Given the description of an element on the screen output the (x, y) to click on. 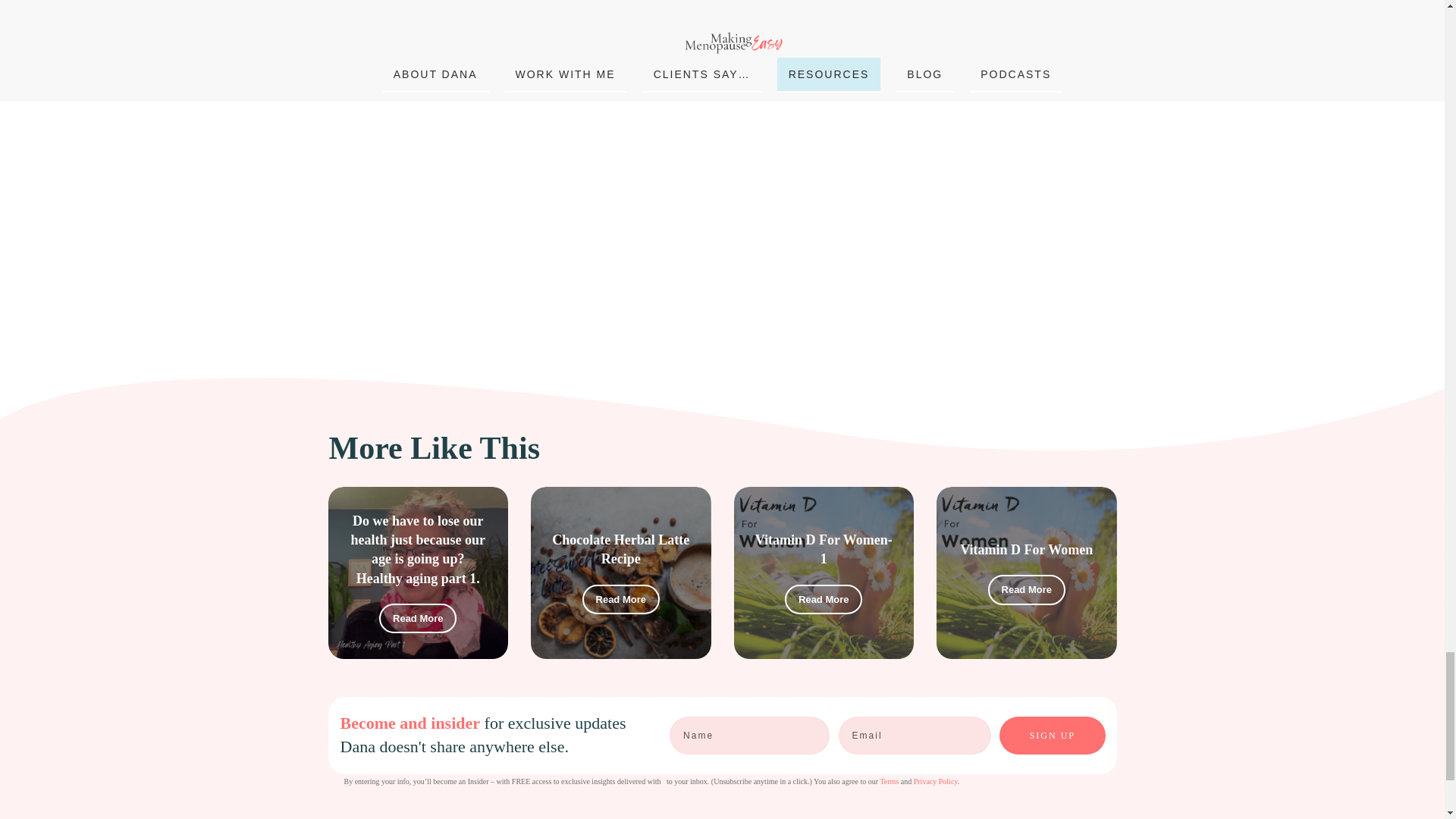
1-2 reset diet quote 1 (521, 142)
Terms (888, 781)
Vitamin D For Women (1026, 549)
Read More (1026, 589)
Vitamin D For Women-1 (823, 549)
Chocolate Herbal Latte Recipe (619, 549)
Vitamin D For Women (1026, 549)
Read More (620, 599)
Read More (417, 618)
